Given the description of an element on the screen output the (x, y) to click on. 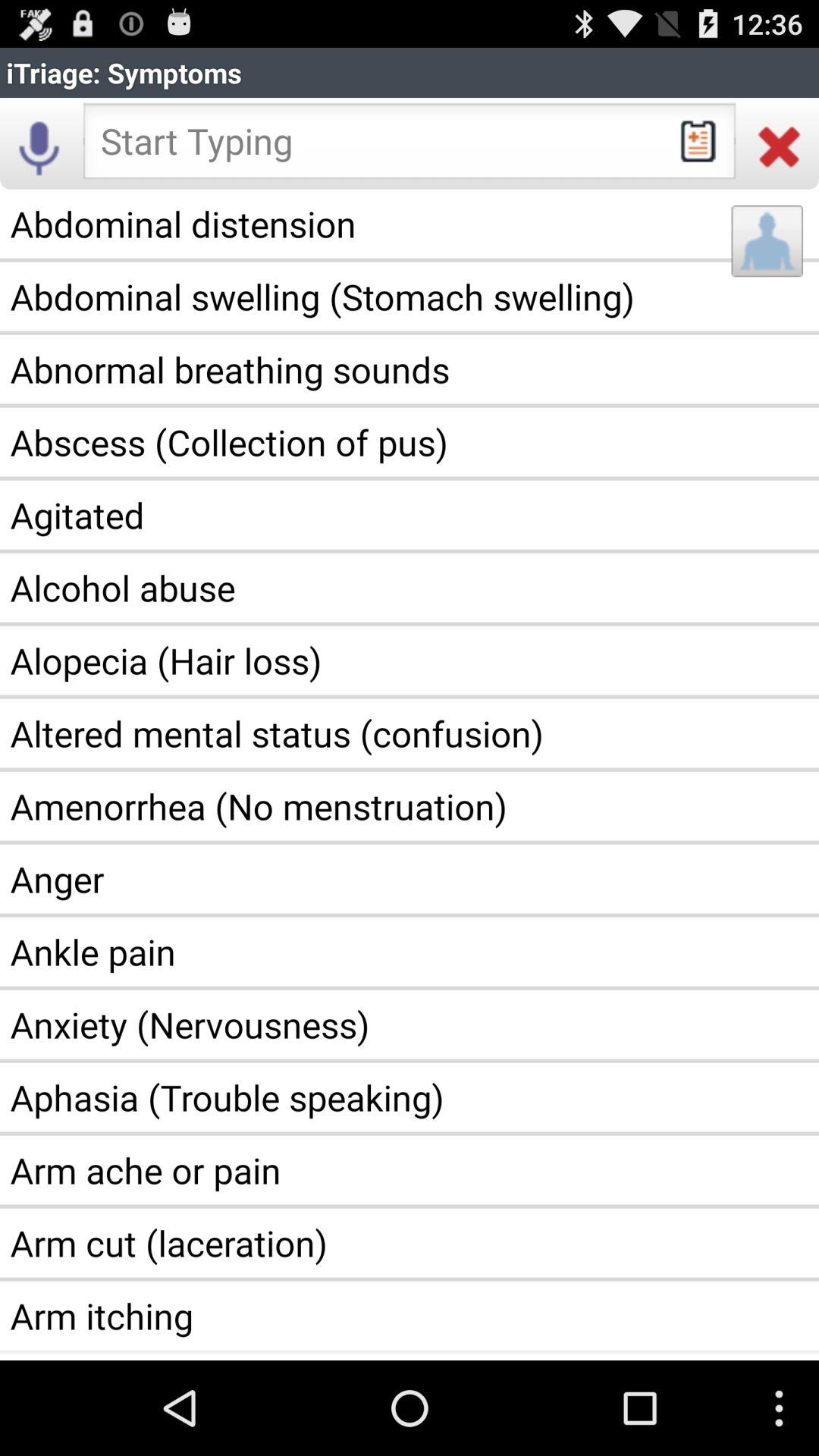
turn on the app above the abnormal breathing sounds icon (767, 240)
